Given the description of an element on the screen output the (x, y) to click on. 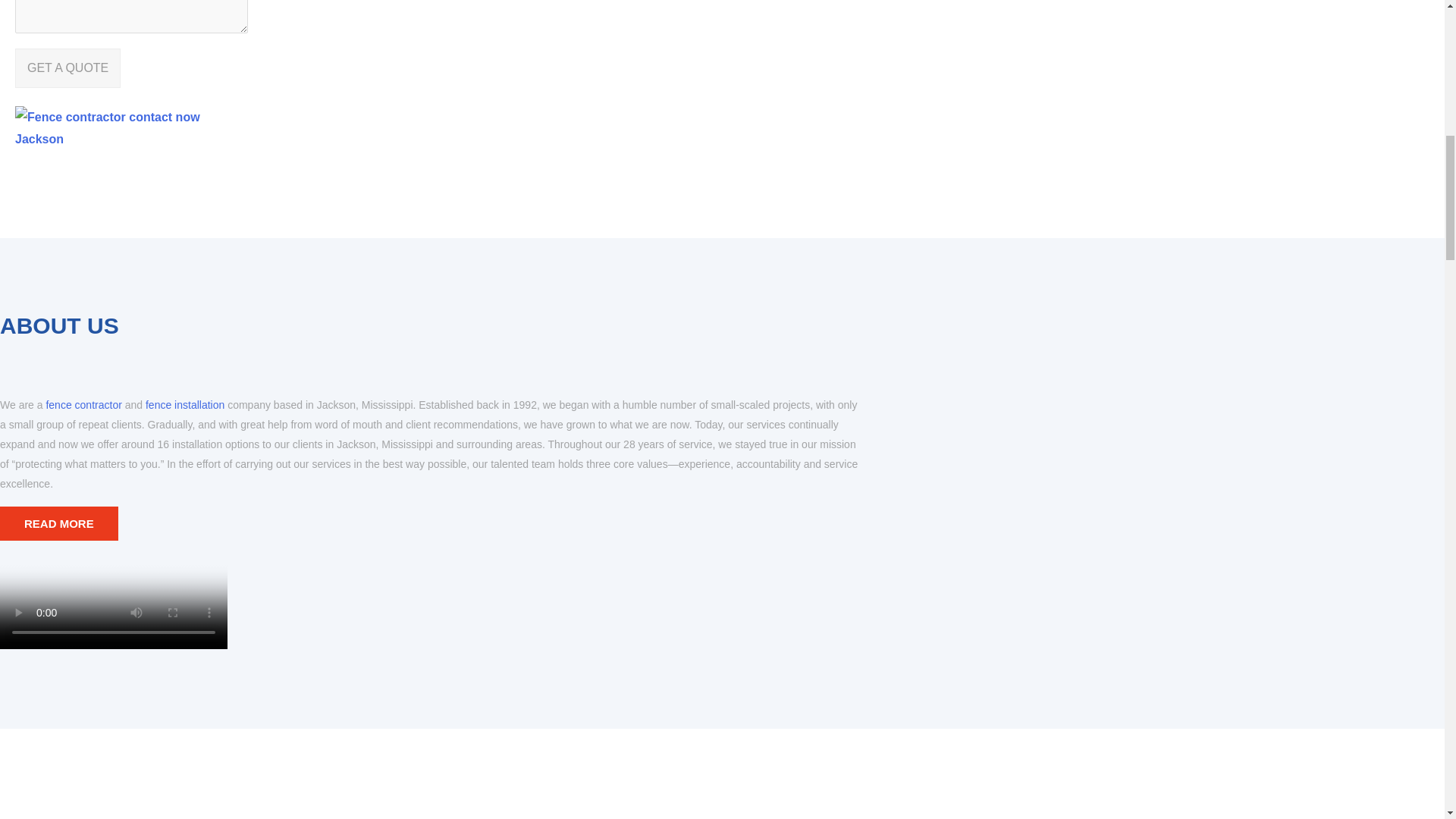
fence contractor (82, 404)
fence installation (184, 404)
READ MORE (58, 523)
GET A QUOTE (67, 67)
